Given the description of an element on the screen output the (x, y) to click on. 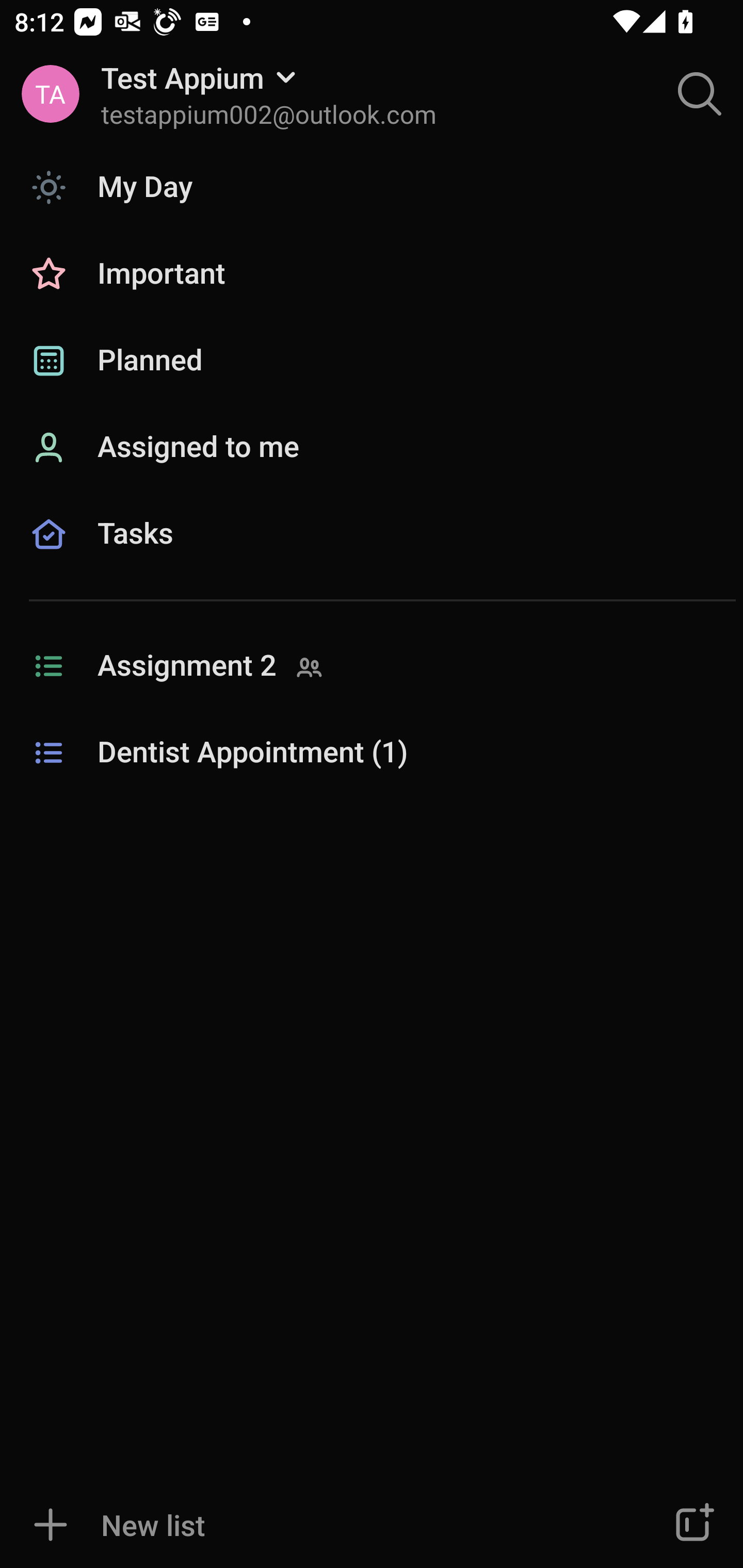
Enter search (699, 93)
My Day, 0 tasks My Day (371, 187)
Important, 0 tasks Important (371, 274)
Planned, 0 tasks Planned (371, 361)
Assigned to me, 0 tasks Assigned to me (371, 447)
Tasks (371, 556)
Shared list. Assignment 2 Assignment 2 Shared list (371, 666)
Dentist Appointment (1) (371, 753)
New list (312, 1524)
Create group (692, 1524)
